Given the description of an element on the screen output the (x, y) to click on. 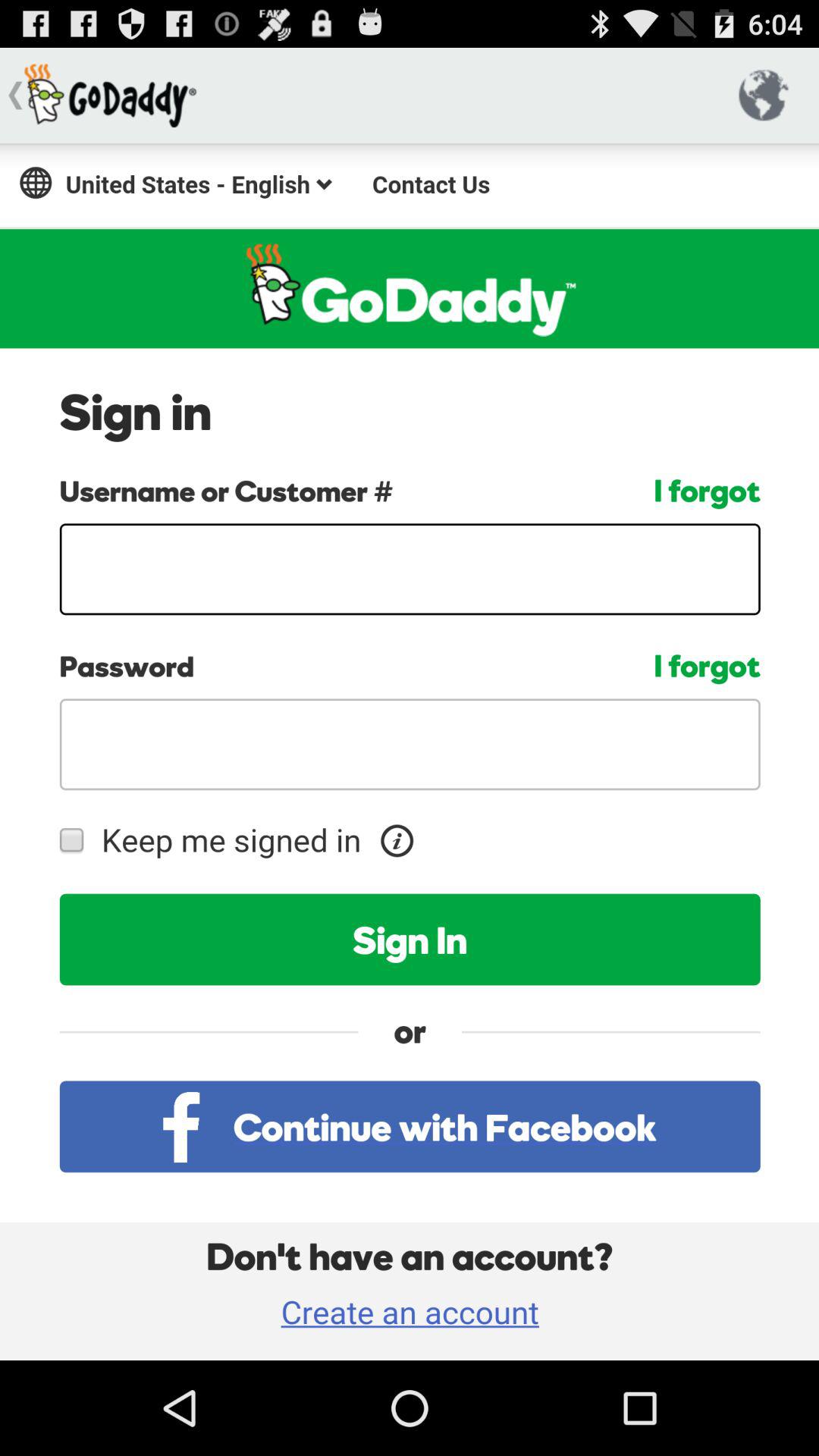
account (409, 751)
